Given the description of an element on the screen output the (x, y) to click on. 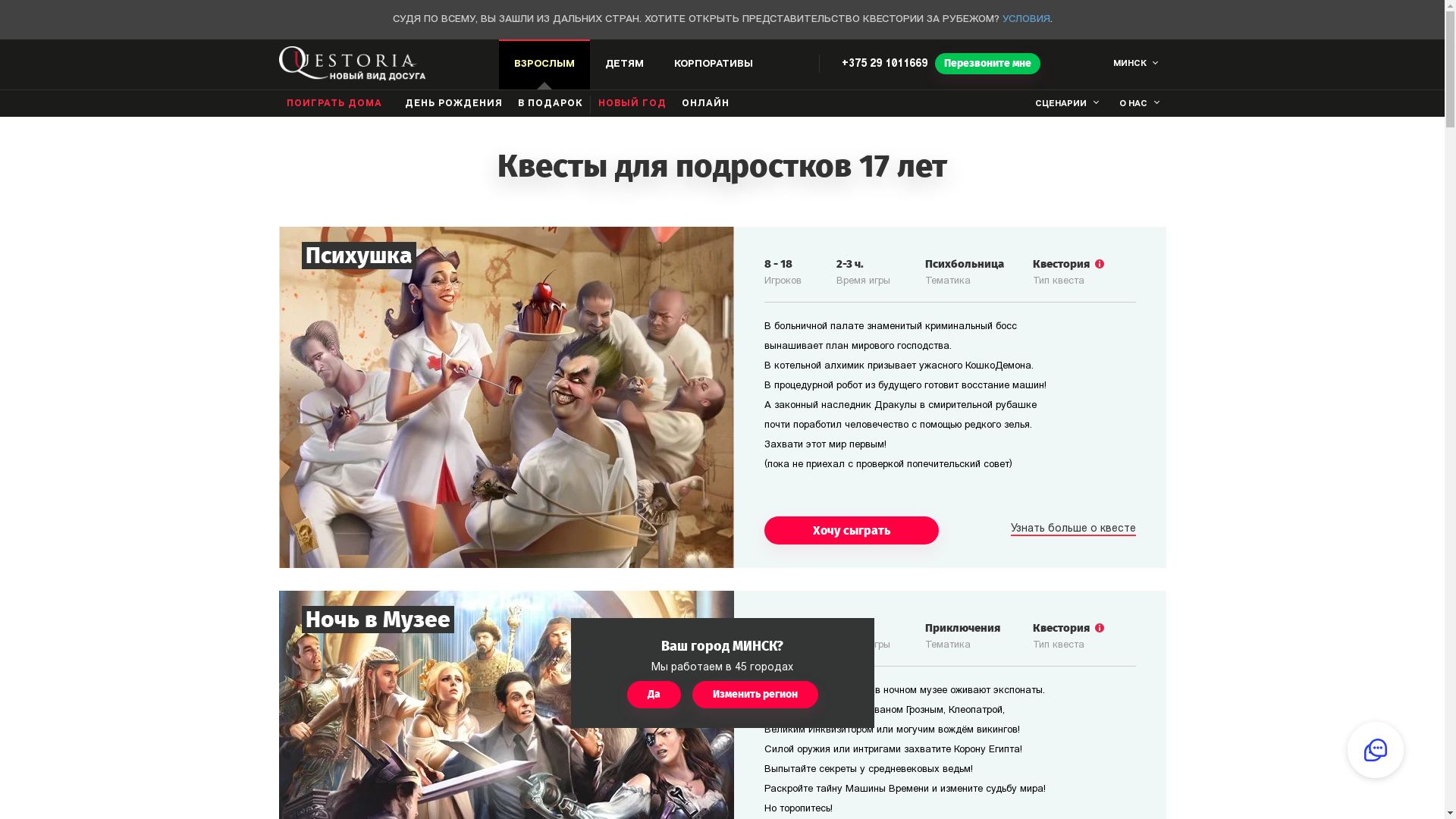
+375 29 1011669 Element type: text (884, 63)
